Given the description of an element on the screen output the (x, y) to click on. 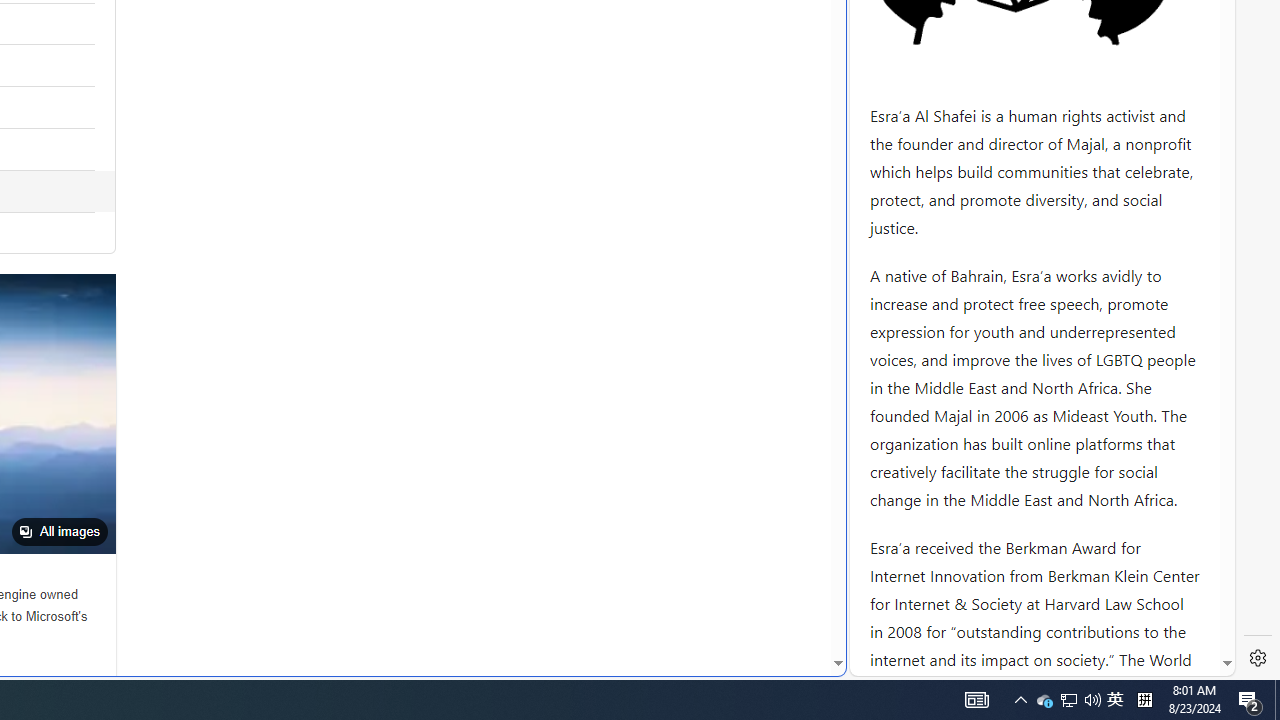
All images (59, 532)
google_privacy_policy_zh-CN.pdf (687, 482)
AutomationID: mfa_root (762, 603)
Search more (792, 604)
Actions for this site (1129, 306)
